Given the description of an element on the screen output the (x, y) to click on. 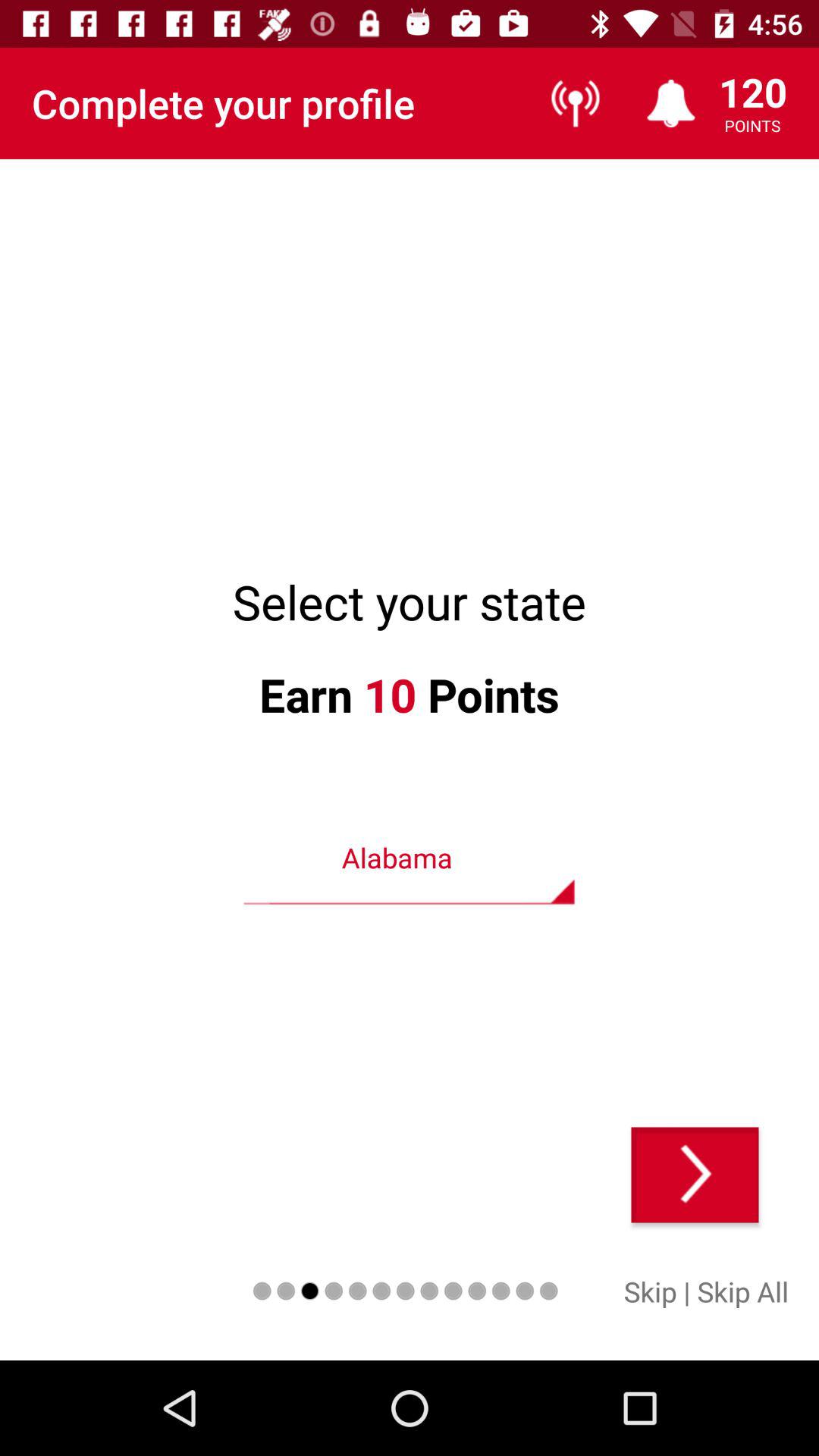
open skip all (742, 1291)
